Given the description of an element on the screen output the (x, y) to click on. 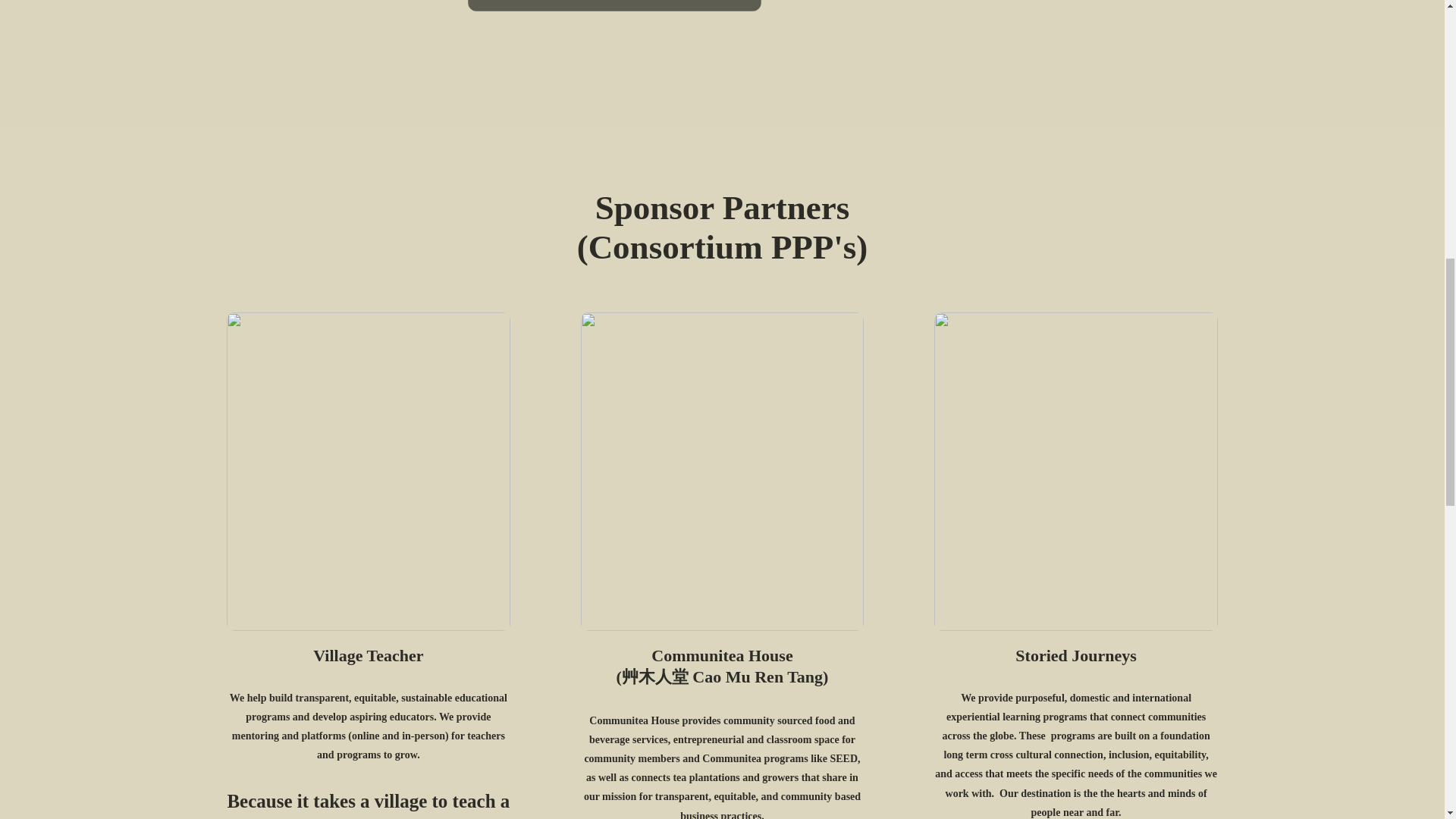
Village Teacher (368, 655)
Communitea House (721, 655)
Storied Journeys (1075, 655)
